Given the description of an element on the screen output the (x, y) to click on. 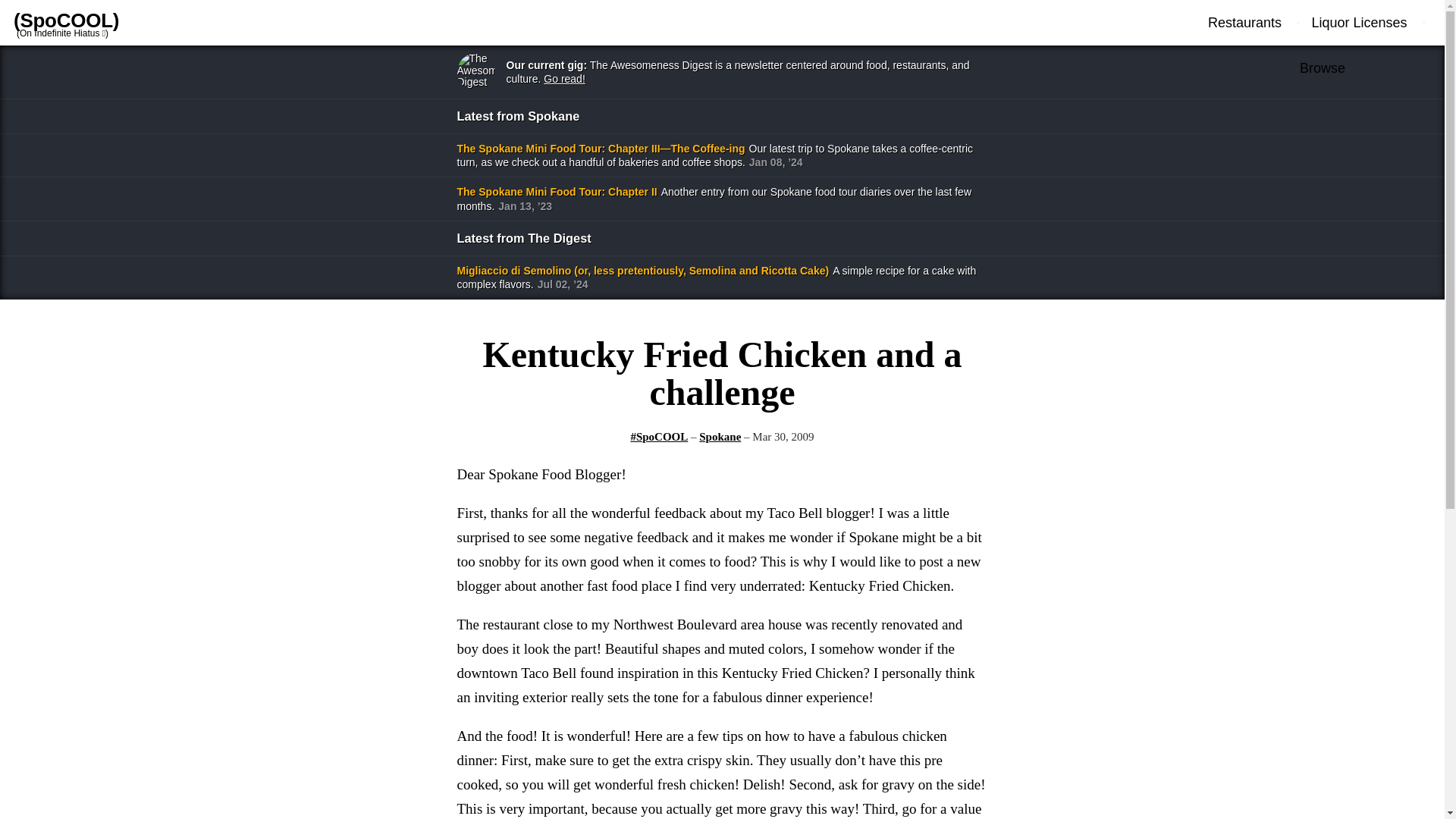
Check out post (720, 373)
Liquor Licenses (1361, 22)
Browse (1322, 68)
Spokane (719, 436)
View more posts from this location (719, 436)
View more posts in this category (658, 436)
Kentucky Fried Chicken and a challenge (720, 373)
Restaurants (1252, 22)
Latest from Spokane (721, 116)
